Given the description of an element on the screen output the (x, y) to click on. 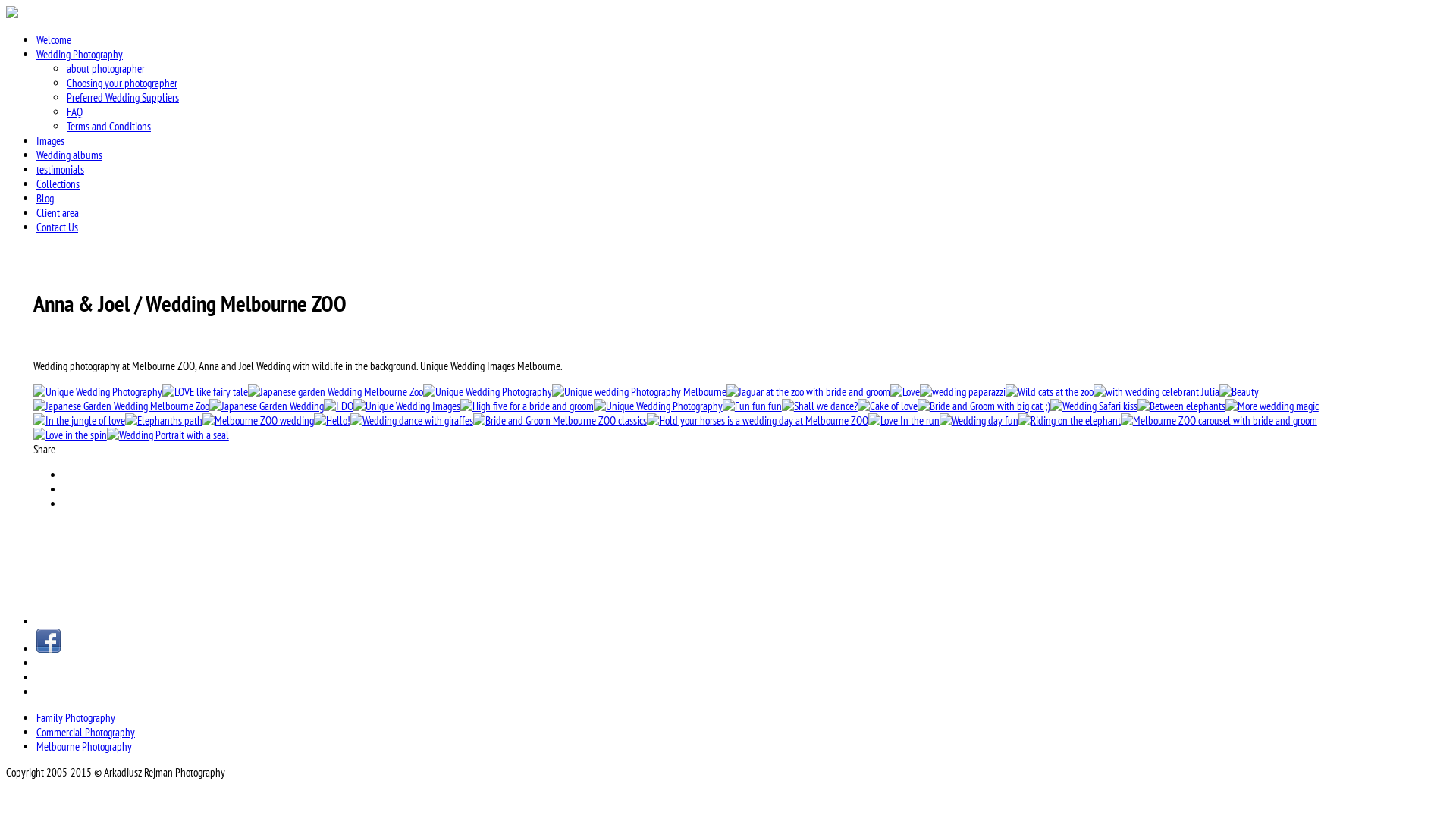
about photographer Element type: text (105, 68)
Images Element type: text (50, 140)
Our Google+ Page Element type: hover (742, 677)
Facebook Element type: hover (699, 489)
Family Photography Element type: text (75, 717)
Melbourne Photography Element type: text (83, 746)
Wedding albums Element type: text (69, 154)
Blog Element type: text (44, 198)
Contact Us Element type: text (57, 226)
Client area Element type: text (57, 212)
Google+ Element type: hover (699, 503)
Commercial Photography Element type: text (85, 731)
Welcome Element type: text (53, 39)
Preferred Wedding Suppliers Element type: text (122, 97)
Choosing your photographer Element type: text (121, 82)
Pinterest Element type: hover (699, 474)
testimonials Element type: text (60, 169)
FAQ Element type: text (74, 111)
Wedding Photography Element type: text (79, 54)
Collections Element type: text (57, 183)
Terms and Conditions Element type: text (108, 126)
Our Instagram Story Element type: hover (742, 621)
